Given the description of an element on the screen output the (x, y) to click on. 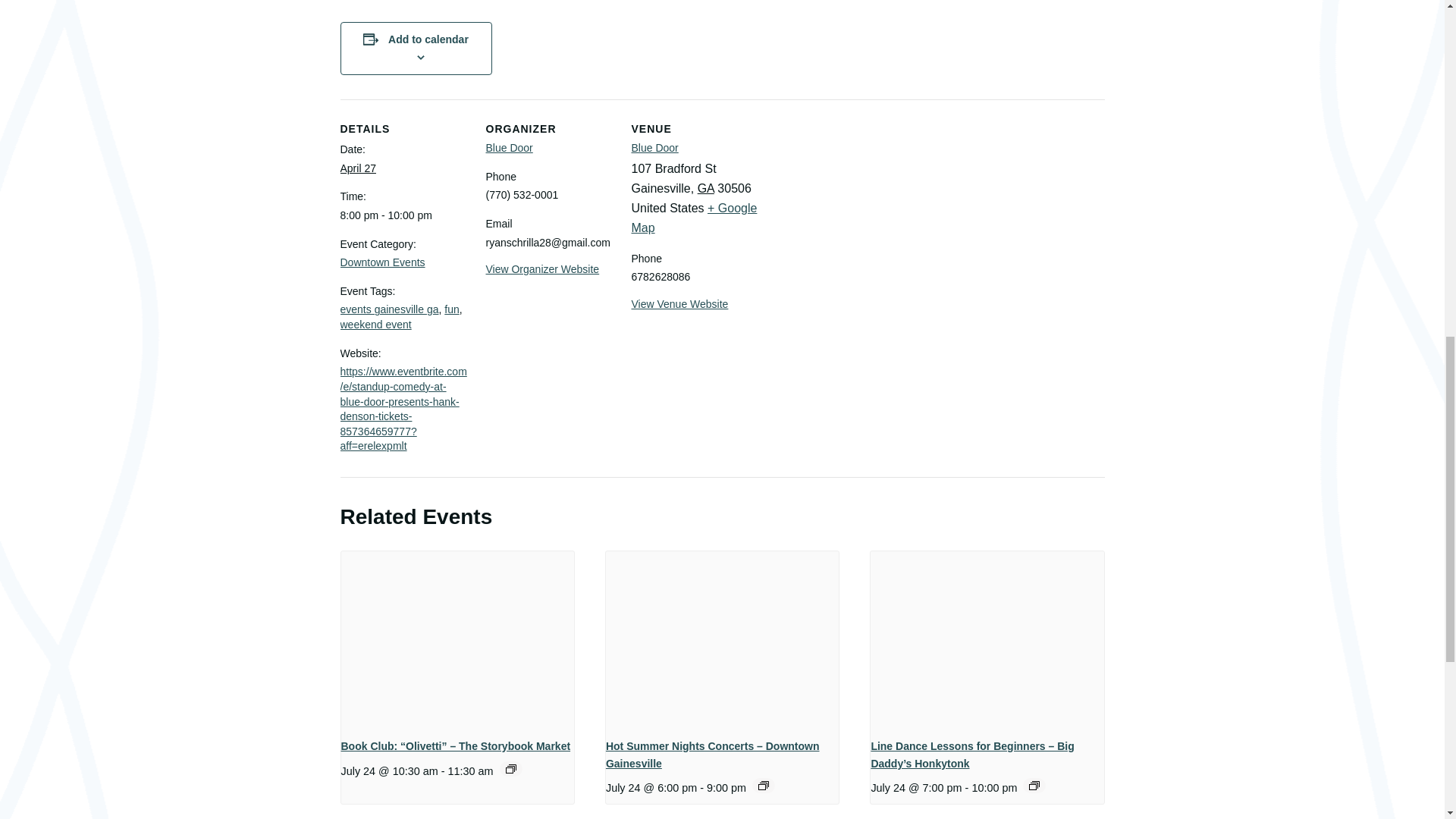
2024-04-27 (357, 168)
Google maps iframe displaying the address to Blue Door (856, 203)
Blue Door (508, 147)
Event Series (763, 785)
Add to calendar (428, 39)
Event Series (1034, 785)
Click to view a Google Map (693, 217)
Georgia (705, 187)
2024-04-27 (403, 215)
Event Series (510, 768)
